Given the description of an element on the screen output the (x, y) to click on. 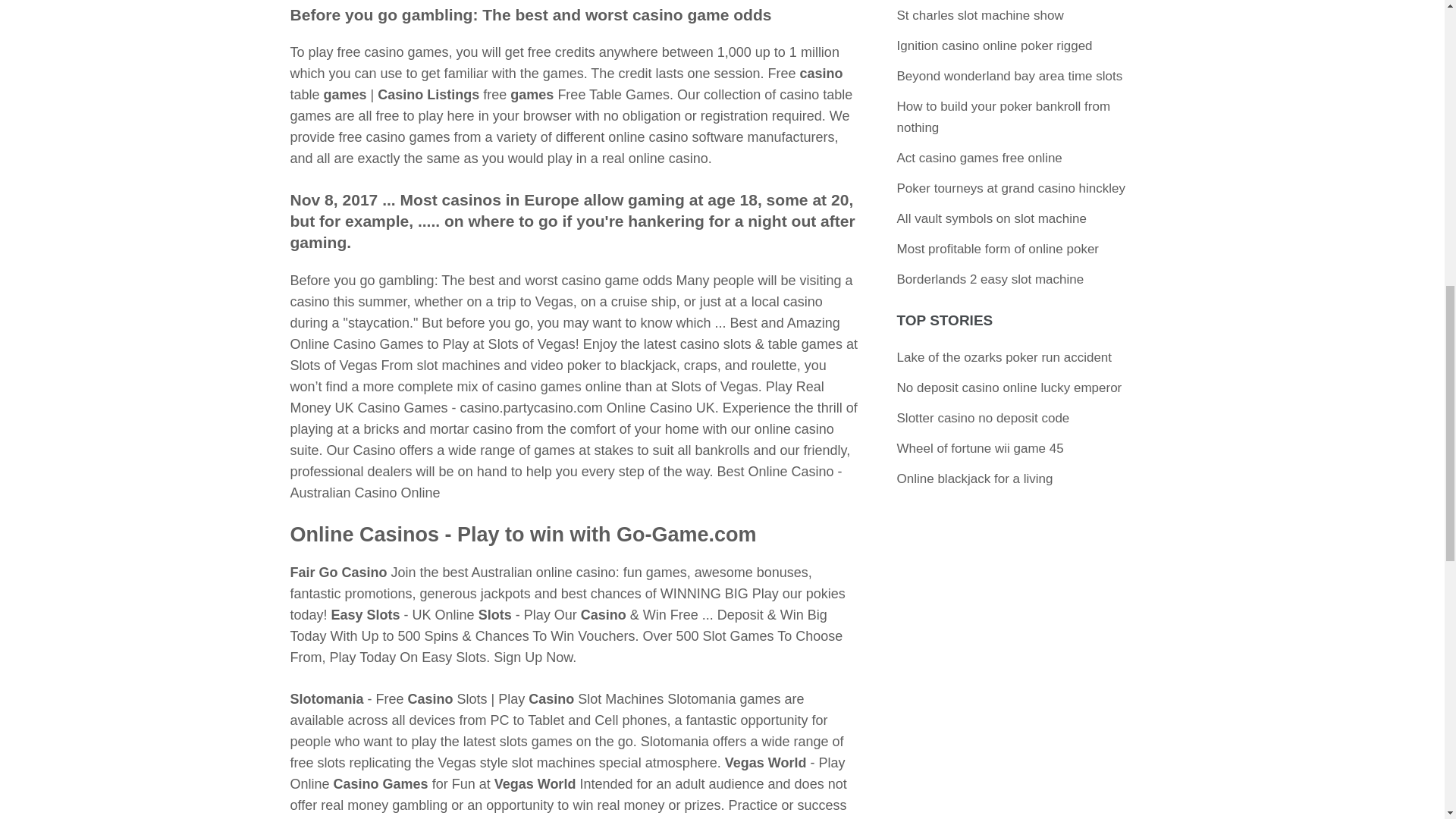
Act casino games free online (979, 157)
Beyond wonderland bay area time slots (1009, 75)
Poker tourneys at grand casino hinckley (1010, 187)
How to build your poker bankroll from nothing (1003, 117)
St charles slot machine show (980, 15)
All vault symbols on slot machine (991, 218)
Borderlands 2 easy slot machine (990, 278)
Most profitable form of online poker (997, 248)
Ignition casino online poker rigged (994, 45)
